Given the description of an element on the screen output the (x, y) to click on. 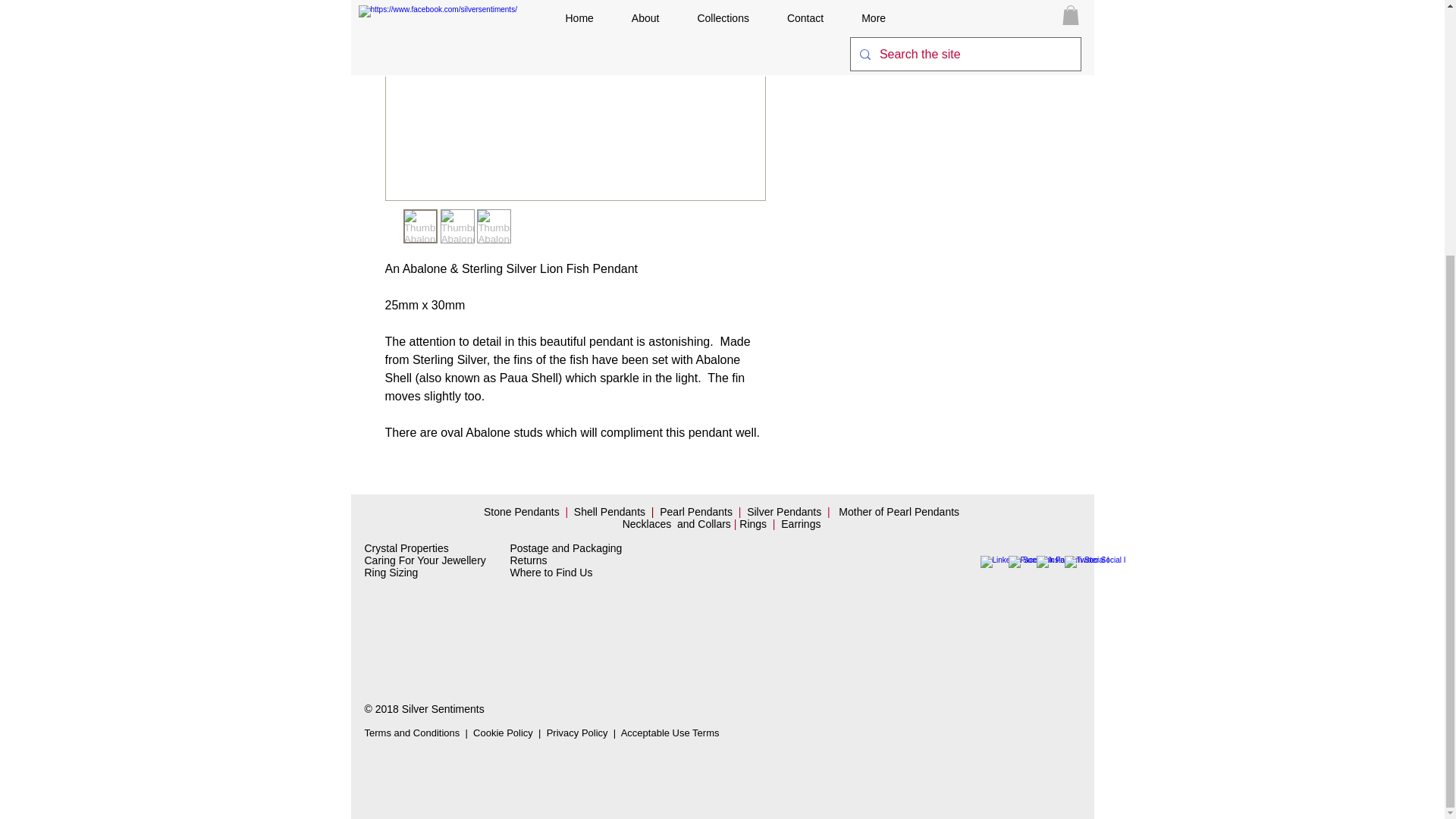
Ring Sizing (390, 572)
Mother of Pearl Pendants  (900, 511)
Necklaces  and Collars (676, 523)
Stone Pendants (521, 511)
Caring For Your Jewellery (424, 560)
Shell Pendants (609, 511)
Crystal Properties (406, 548)
Silver Pendants (783, 511)
Earrings   (803, 523)
Rings  (754, 523)
Pearl Pendants  (697, 511)
